Given the description of an element on the screen output the (x, y) to click on. 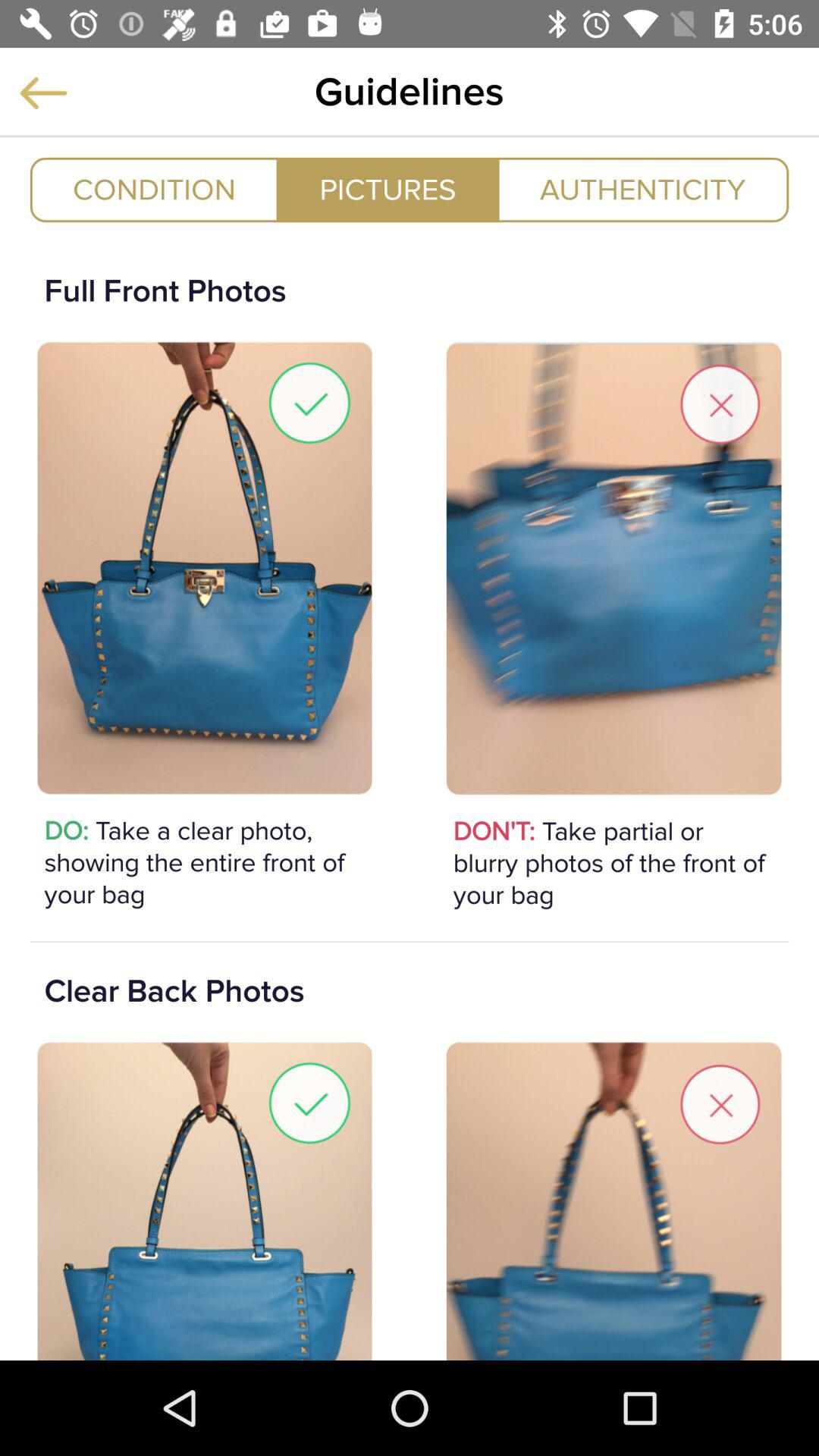
select the icon next to authenticity (387, 189)
